Given the description of an element on the screen output the (x, y) to click on. 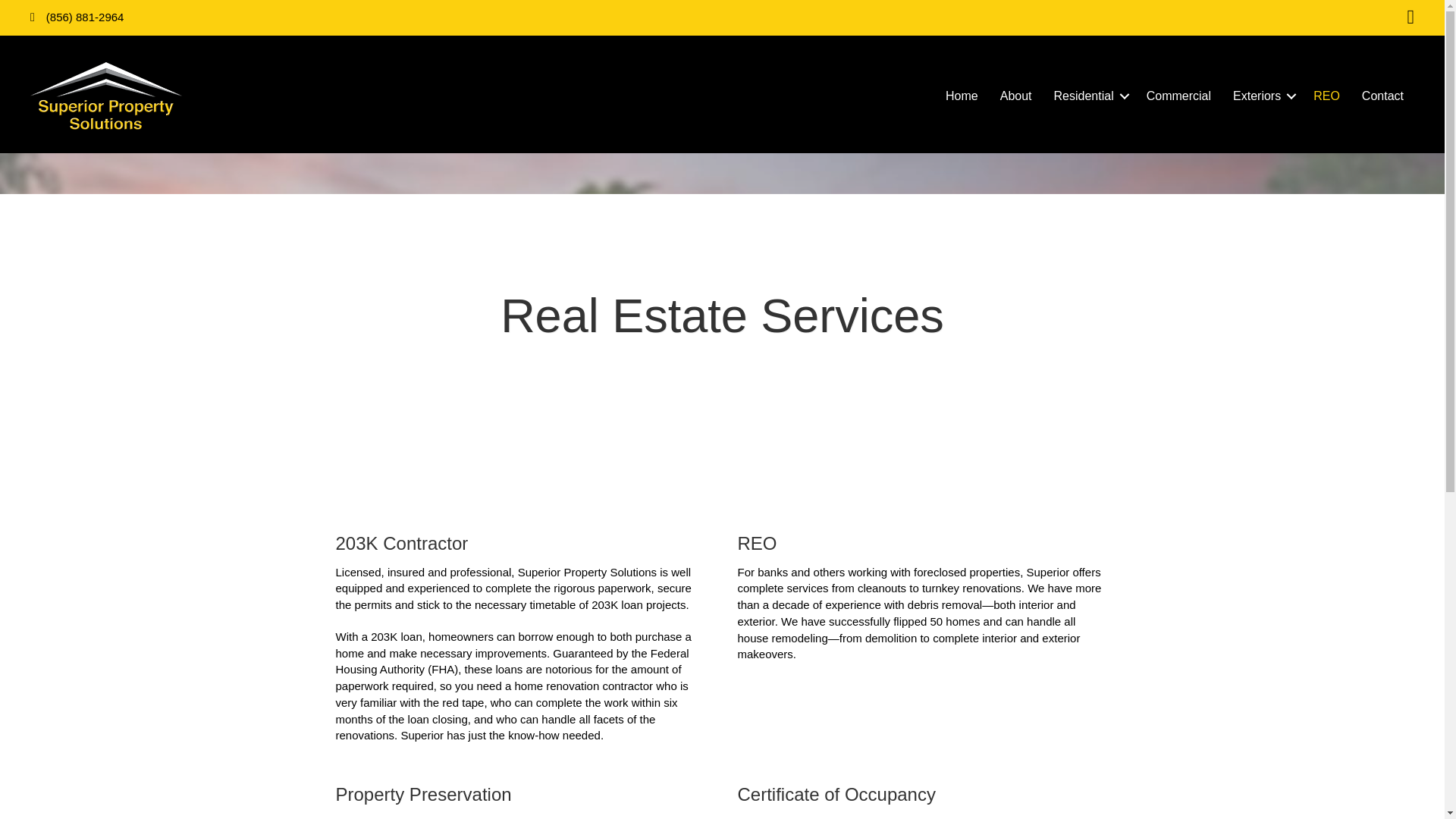
About (1016, 95)
Home (961, 95)
SPS logo-no bkgd (106, 96)
Contact (1382, 95)
REO (1327, 95)
Residential (1089, 95)
Commercial (1178, 95)
Exteriors (1262, 95)
